Given the description of an element on the screen output the (x, y) to click on. 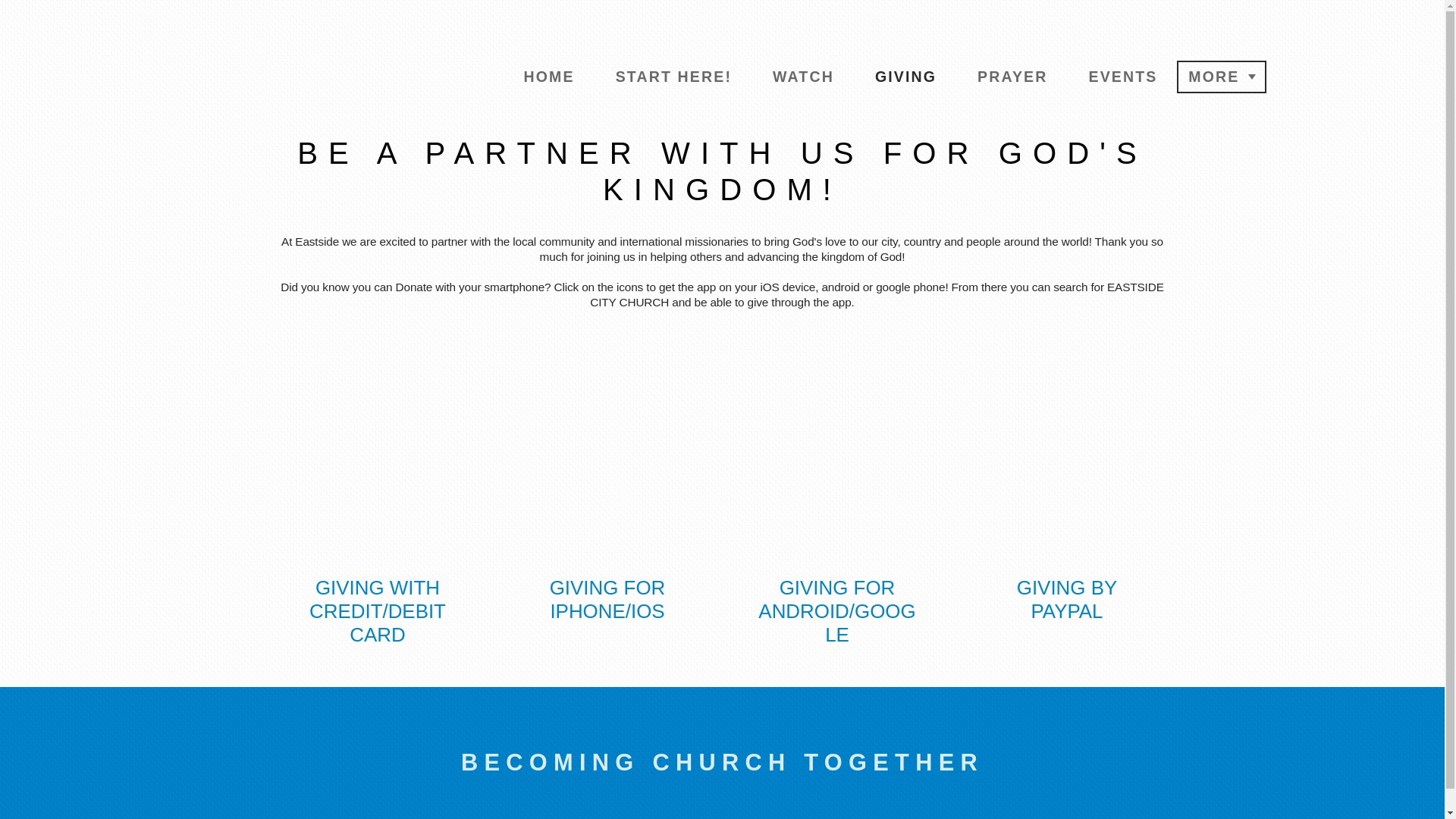
START HERE! (673, 76)
HOME (549, 76)
WATCH (803, 76)
